Given the description of an element on the screen output the (x, y) to click on. 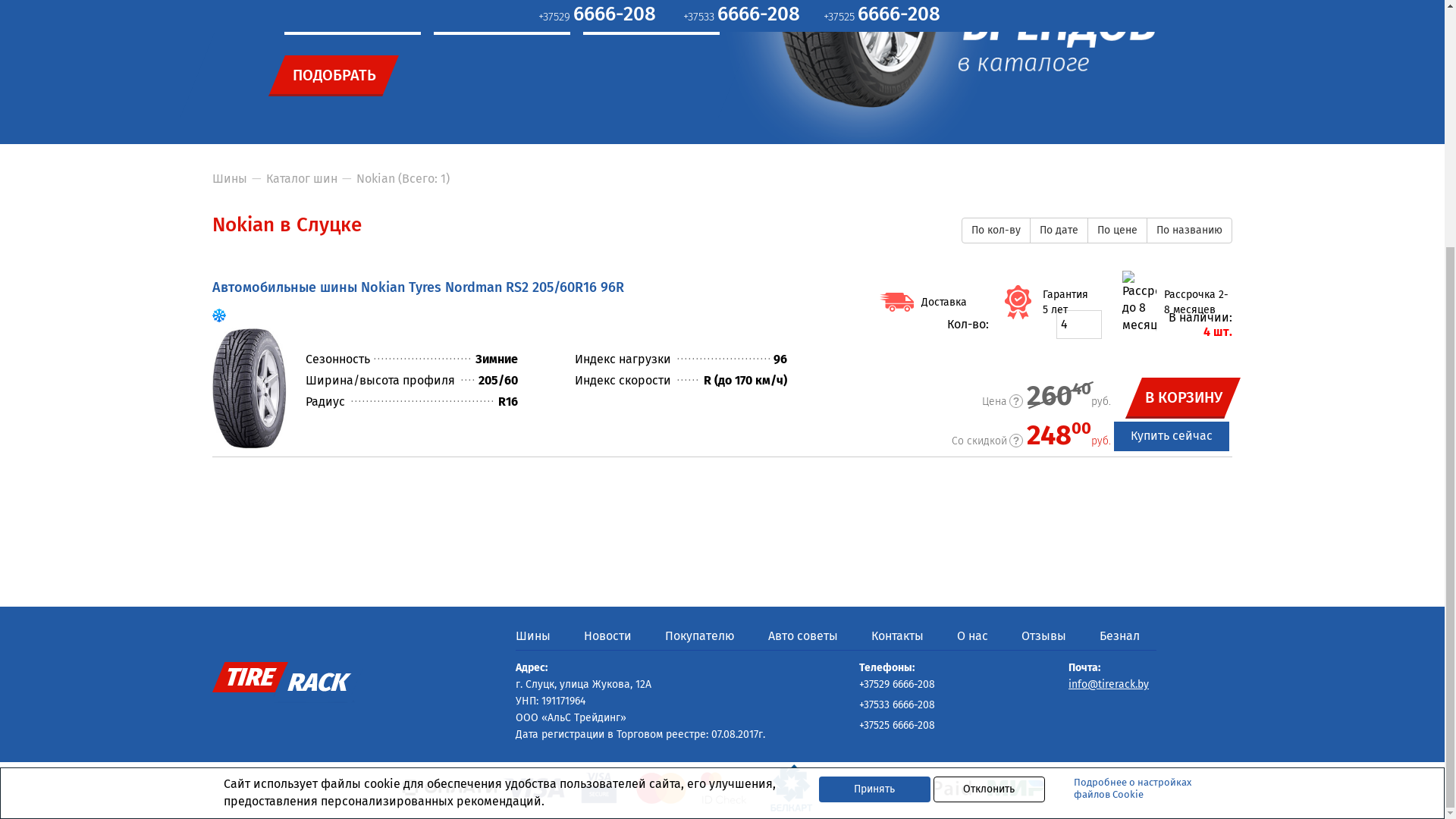
+37525 6666-208 Element type: text (886, 360)
+37533 6666-208 Element type: text (748, 360)
+37529 6666-208 Element type: text (606, 360)
